Given the description of an element on the screen output the (x, y) to click on. 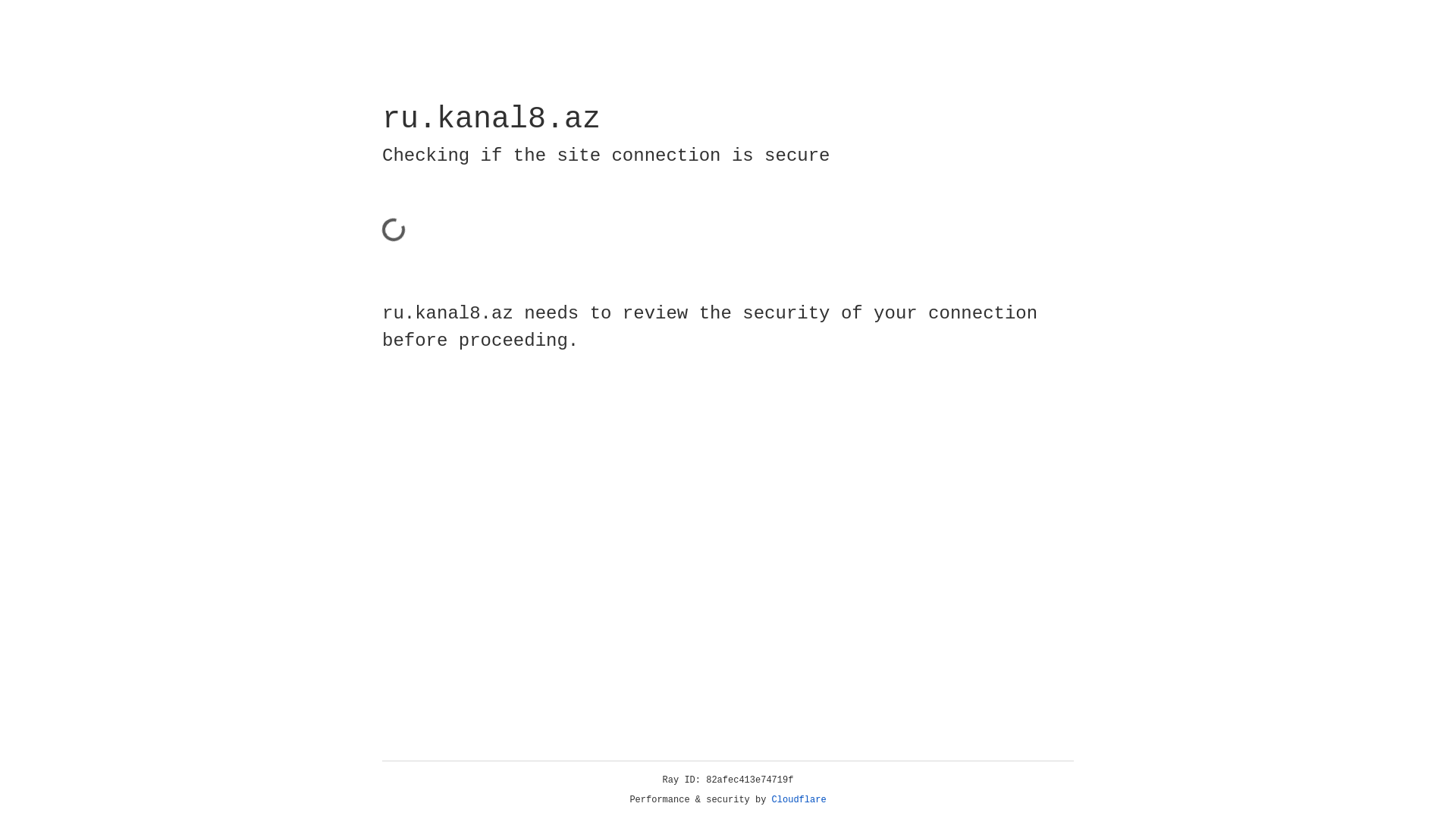
Cloudflare Element type: text (798, 799)
